Given the description of an element on the screen output the (x, y) to click on. 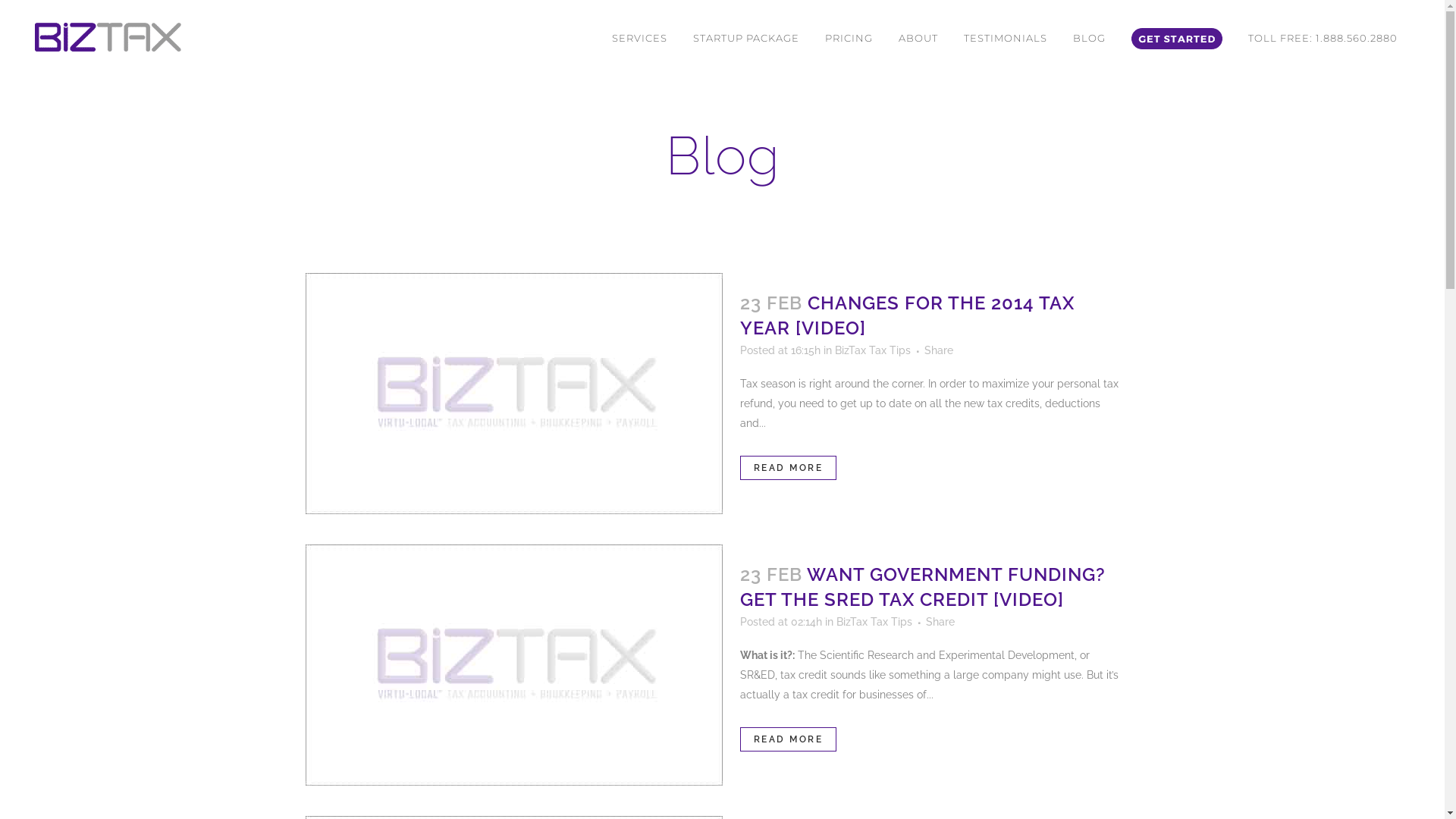
CHANGES FOR THE 2014 TAX YEAR [VIDEO] Element type: text (907, 314)
Share Element type: text (937, 350)
READ MORE Element type: text (788, 467)
READ MORE Element type: text (788, 739)
TESTIMONIALS Element type: text (1005, 37)
TESTIMONIALS Element type: text (343, 647)
Share Element type: text (939, 621)
STARTUP PACKAGE Element type: text (746, 37)
BizTax Tax Tips Element type: text (872, 350)
TOLL FREE: 1.888.560.2880 Element type: text (1322, 37)
SERVICES Element type: text (639, 37)
HOME Element type: text (320, 568)
GET STARTED Element type: text (340, 686)
Want Government Funding? Get The SRED Tax Credit [Video] Element type: hover (512, 664)
WANT GOVERNMENT FUNDING? GET THE SRED TAX CREDIT [VIDEO] Element type: text (922, 586)
ABOUT Element type: text (323, 627)
PRICING Element type: text (848, 37)
PRICING Element type: text (326, 607)
Changes For The 2014 Tax Year [Video] Element type: hover (512, 393)
SERVICES Element type: text (329, 588)
BLOG Element type: text (319, 667)
BLOG Element type: text (1089, 37)
ABOUT Element type: text (917, 37)
BizTax Tax Tips Element type: text (873, 621)
